Given the description of an element on the screen output the (x, y) to click on. 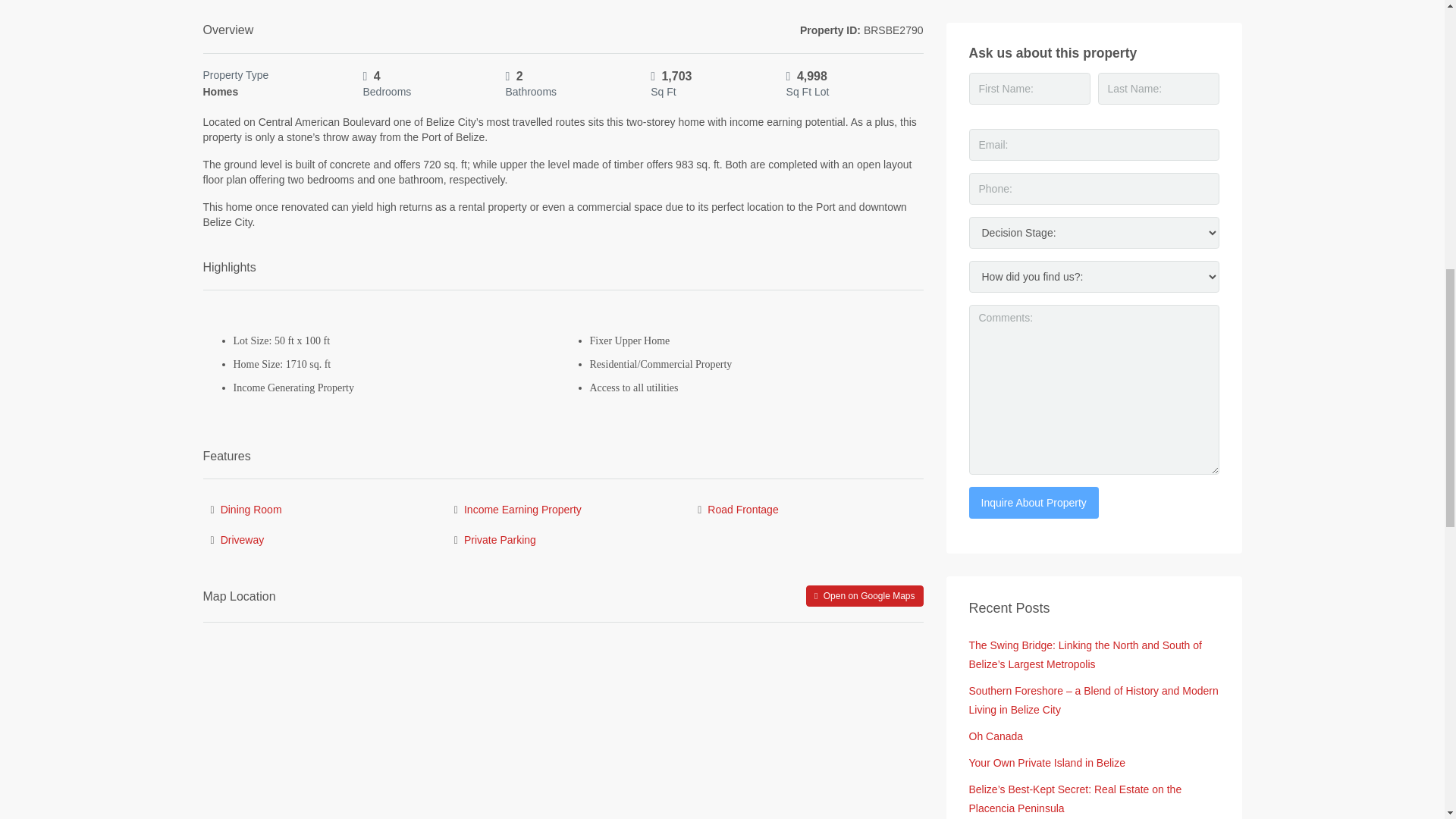
Inquire About Property (1034, 502)
